Given the description of an element on the screen output the (x, y) to click on. 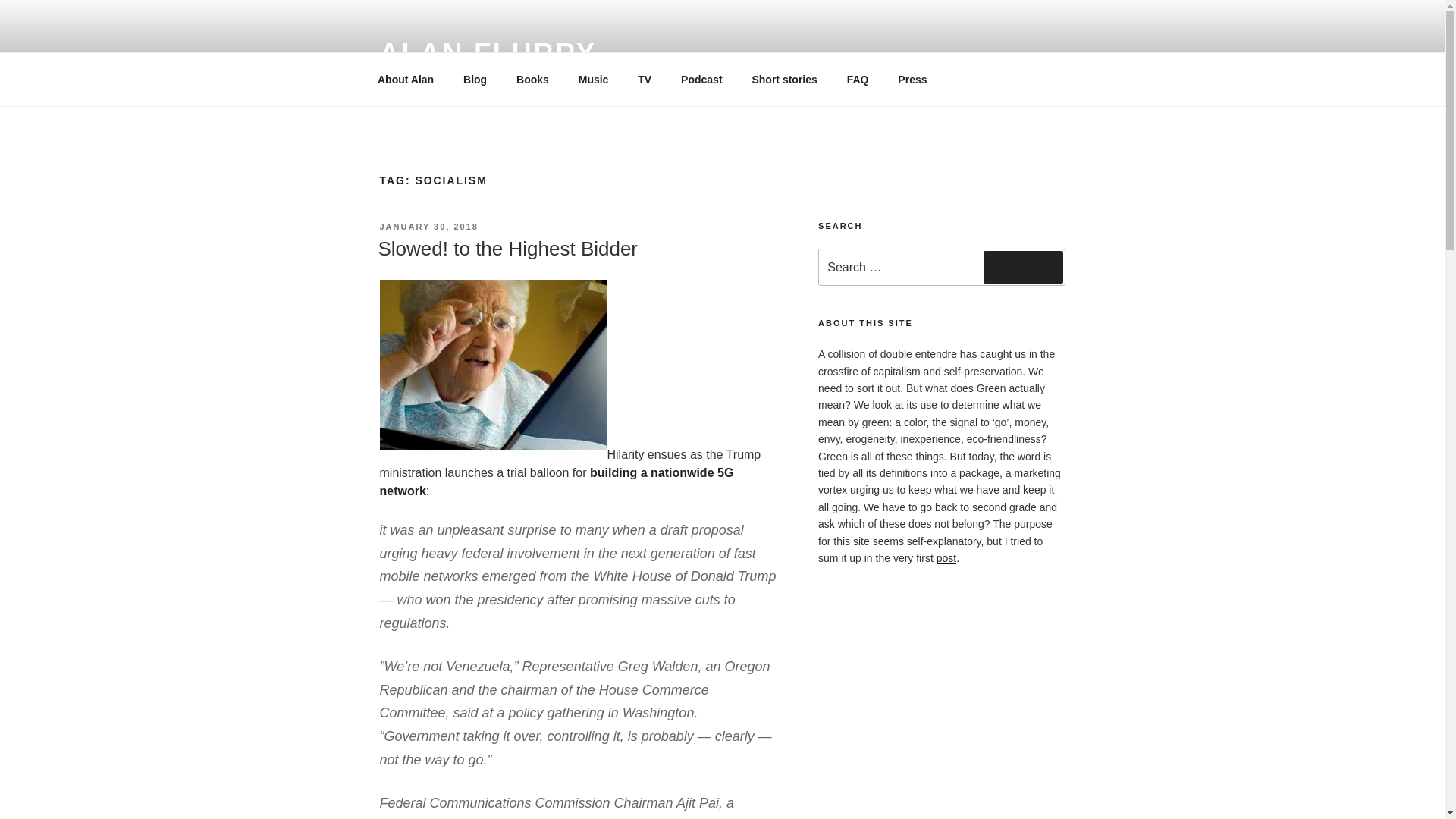
Podcast (701, 78)
post (946, 558)
About Alan (405, 78)
Music (592, 78)
TV (644, 78)
ALAN FLURRY (486, 52)
Slowed! to the Highest Bidder (507, 248)
building a nationwide 5G network (555, 481)
Blog (474, 78)
Press (912, 78)
